Given the description of an element on the screen output the (x, y) to click on. 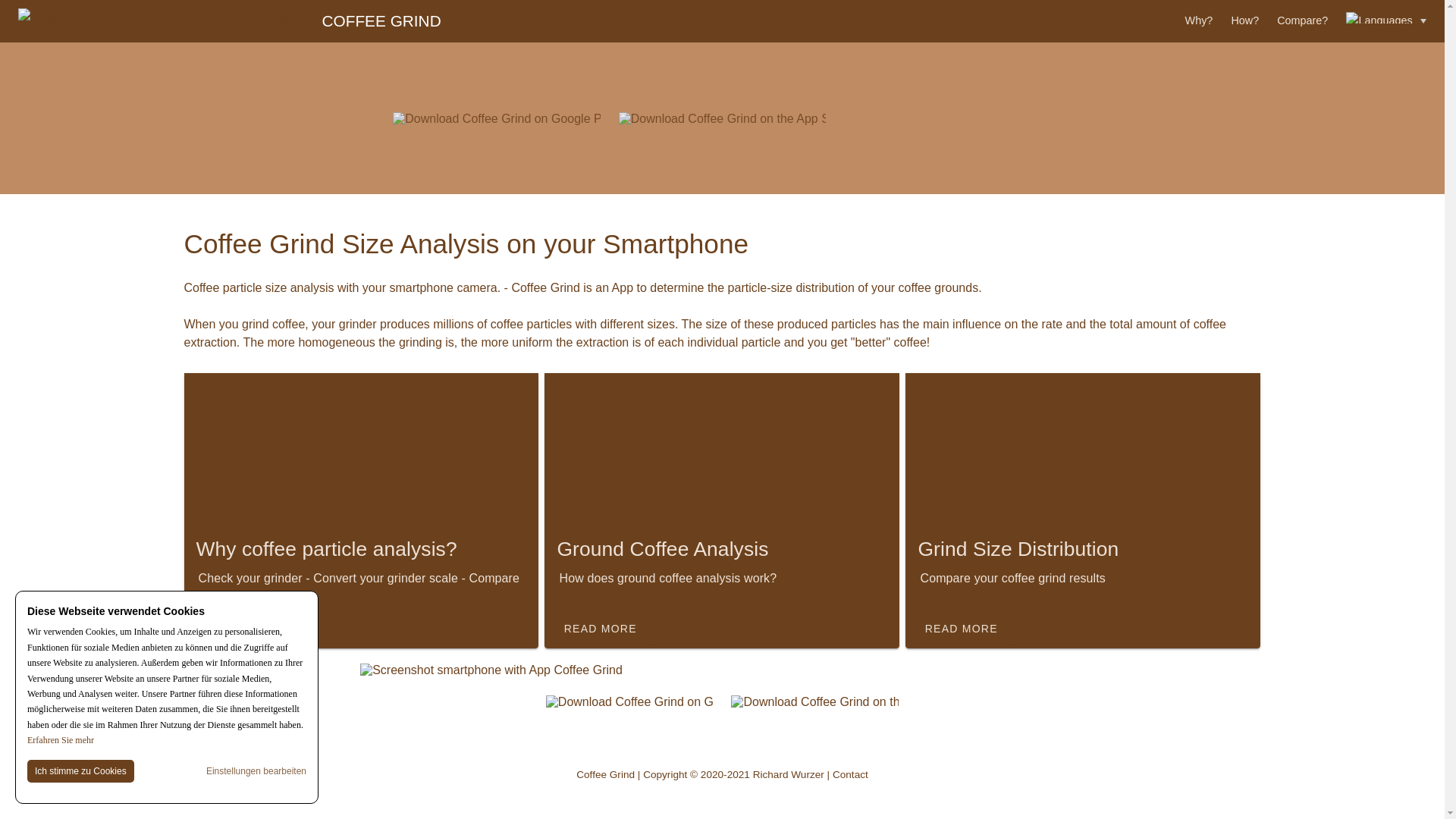
READ MORE (237, 628)
READ MORE (598, 628)
READ MORE (960, 628)
How? (1244, 20)
Why? (1198, 20)
Einstellungen bearbeiten (255, 770)
Grind Size Distribution (1082, 551)
Compare? (1301, 20)
Erfahren Sie mehr (60, 739)
COFFEE GRIND (229, 22)
